Given the description of an element on the screen output the (x, y) to click on. 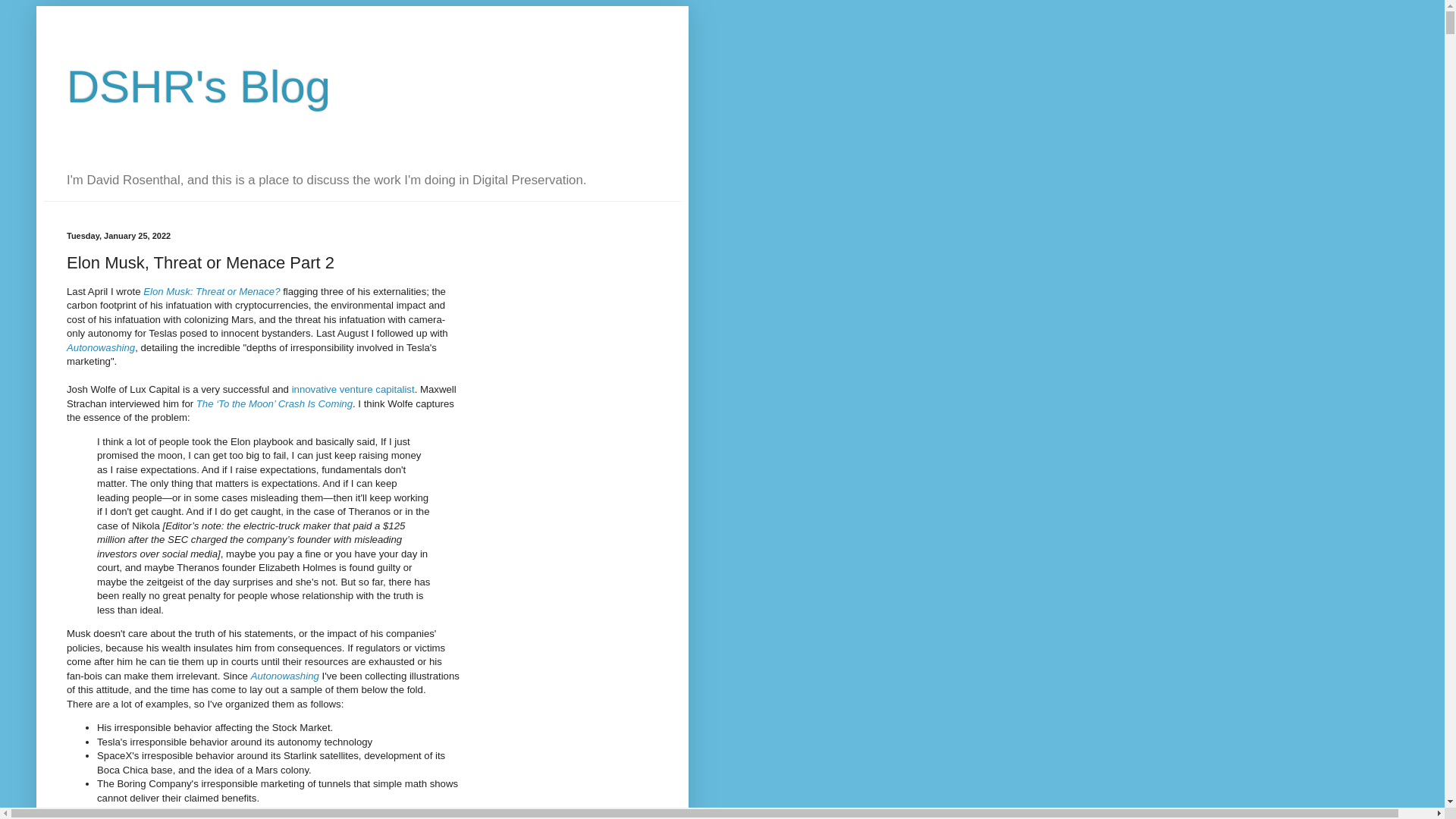
DSHR's Blog (198, 86)
Autonowashing (100, 347)
Elon Musk: Threat or Menace? (210, 291)
Autonowashing (284, 675)
innovative venture capitalist (353, 389)
